Given the description of an element on the screen output the (x, y) to click on. 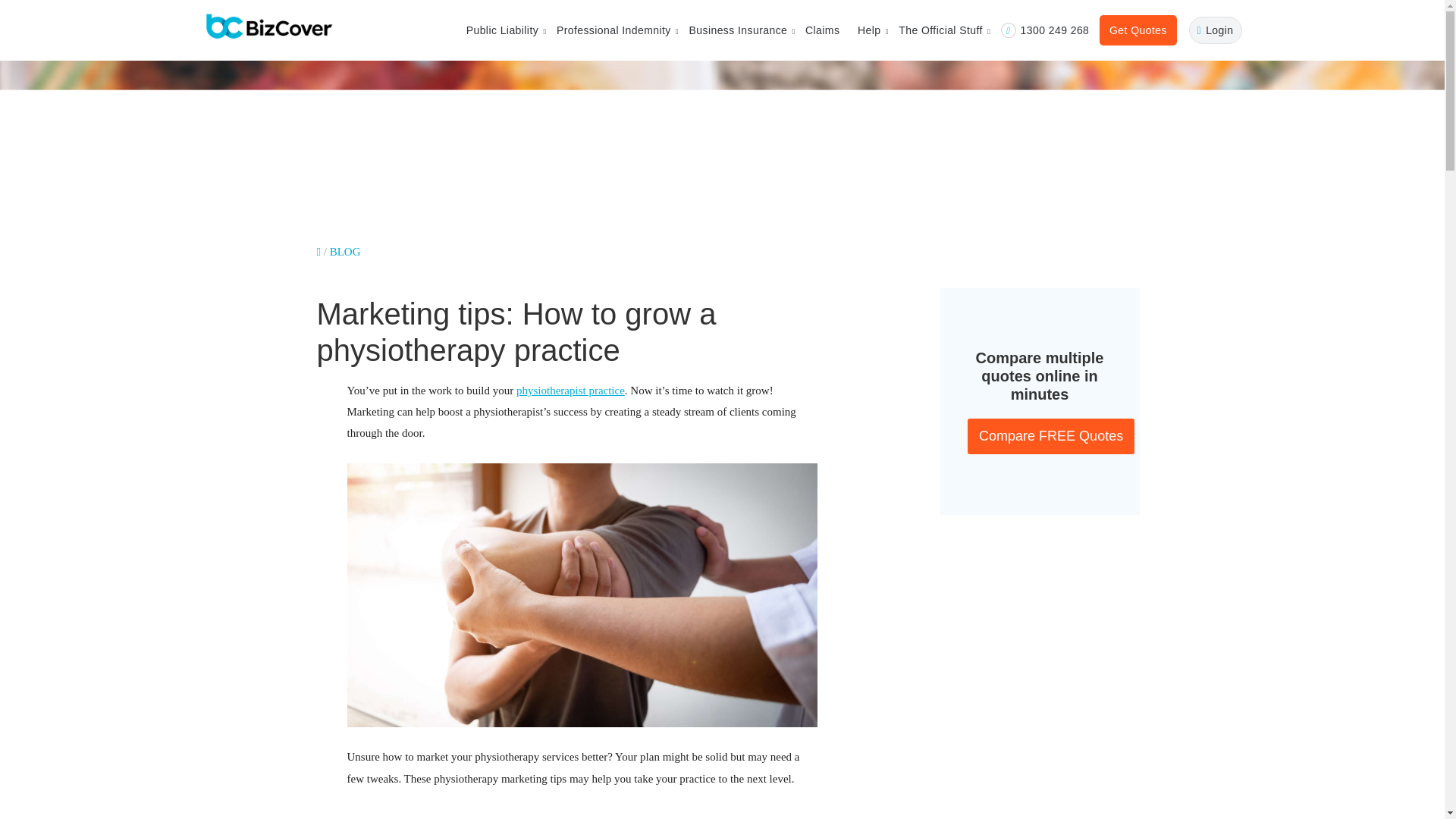
Professional Indemnity (613, 29)
Business Insurance (737, 29)
BizCover (268, 26)
Help (868, 29)
Public Liability (502, 29)
Claims (822, 29)
